Given the description of an element on the screen output the (x, y) to click on. 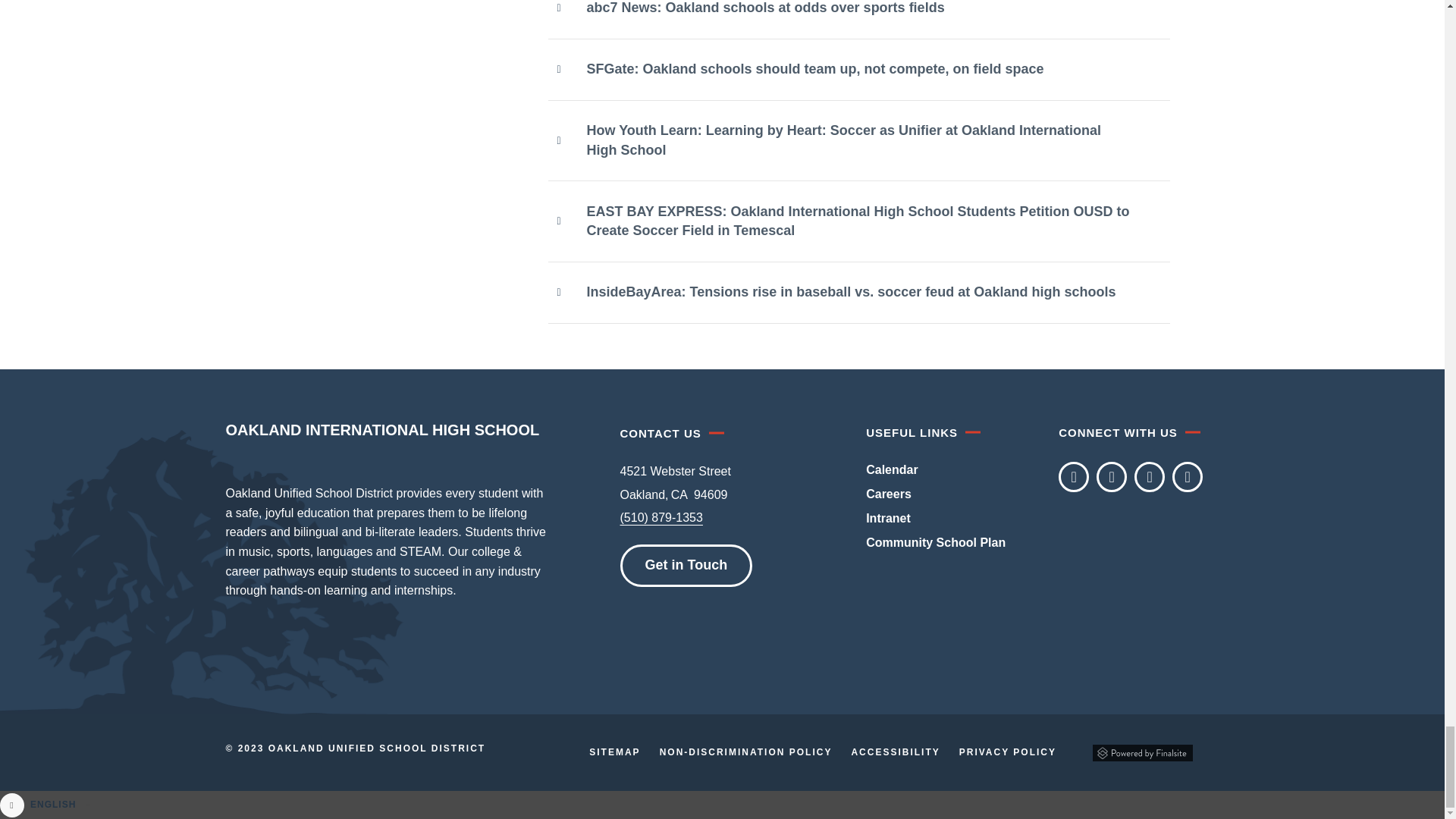
Powered by Finalsite opens in a new window (1142, 752)
